Given the description of an element on the screen output the (x, y) to click on. 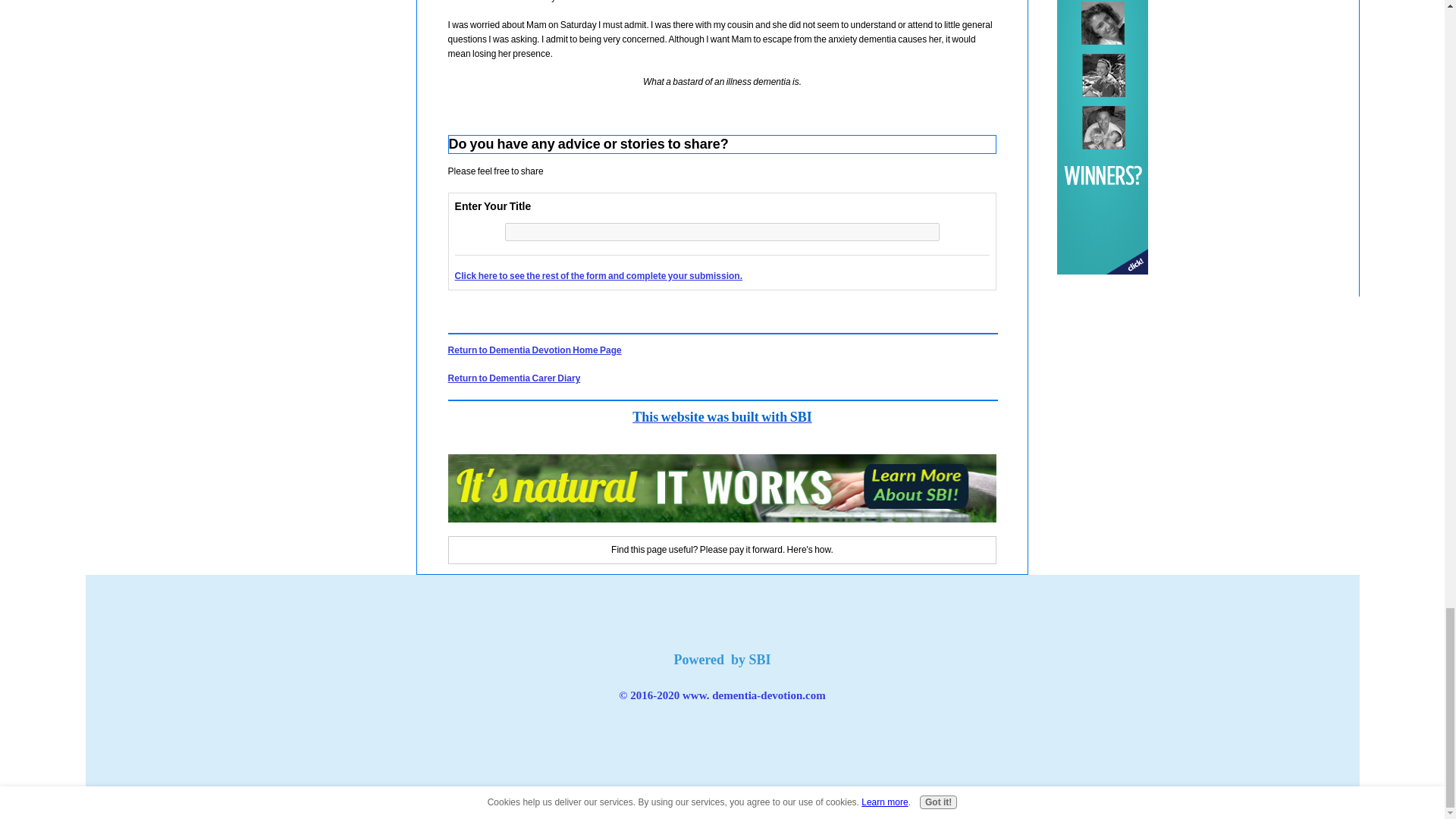
Return to Dementia Carer Diary (514, 378)
This website was built with SBI (721, 417)
Return to Dementia Devotion Home Page (534, 349)
